Given the description of an element on the screen output the (x, y) to click on. 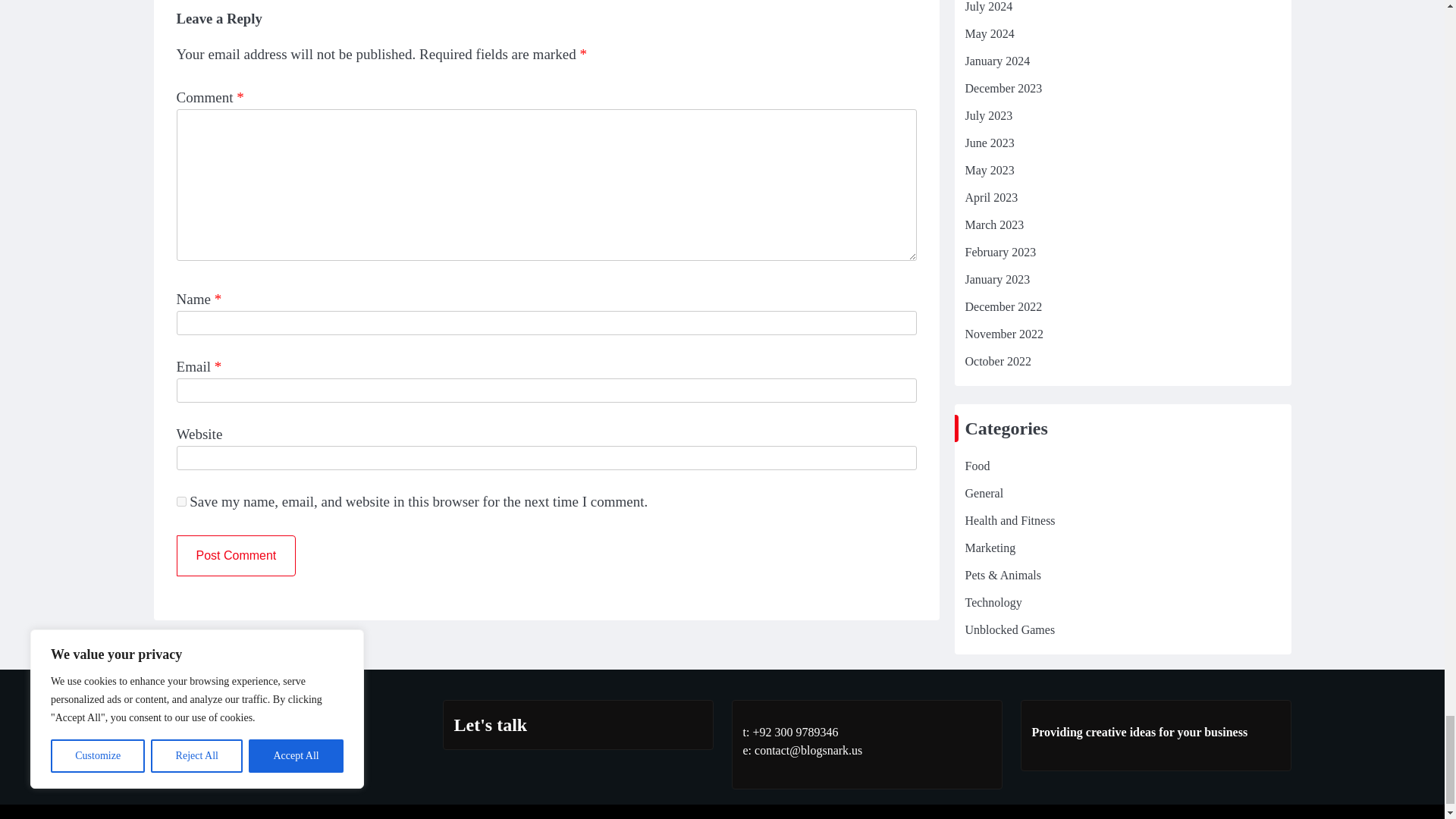
yes (181, 501)
Post Comment (235, 555)
